Given the description of an element on the screen output the (x, y) to click on. 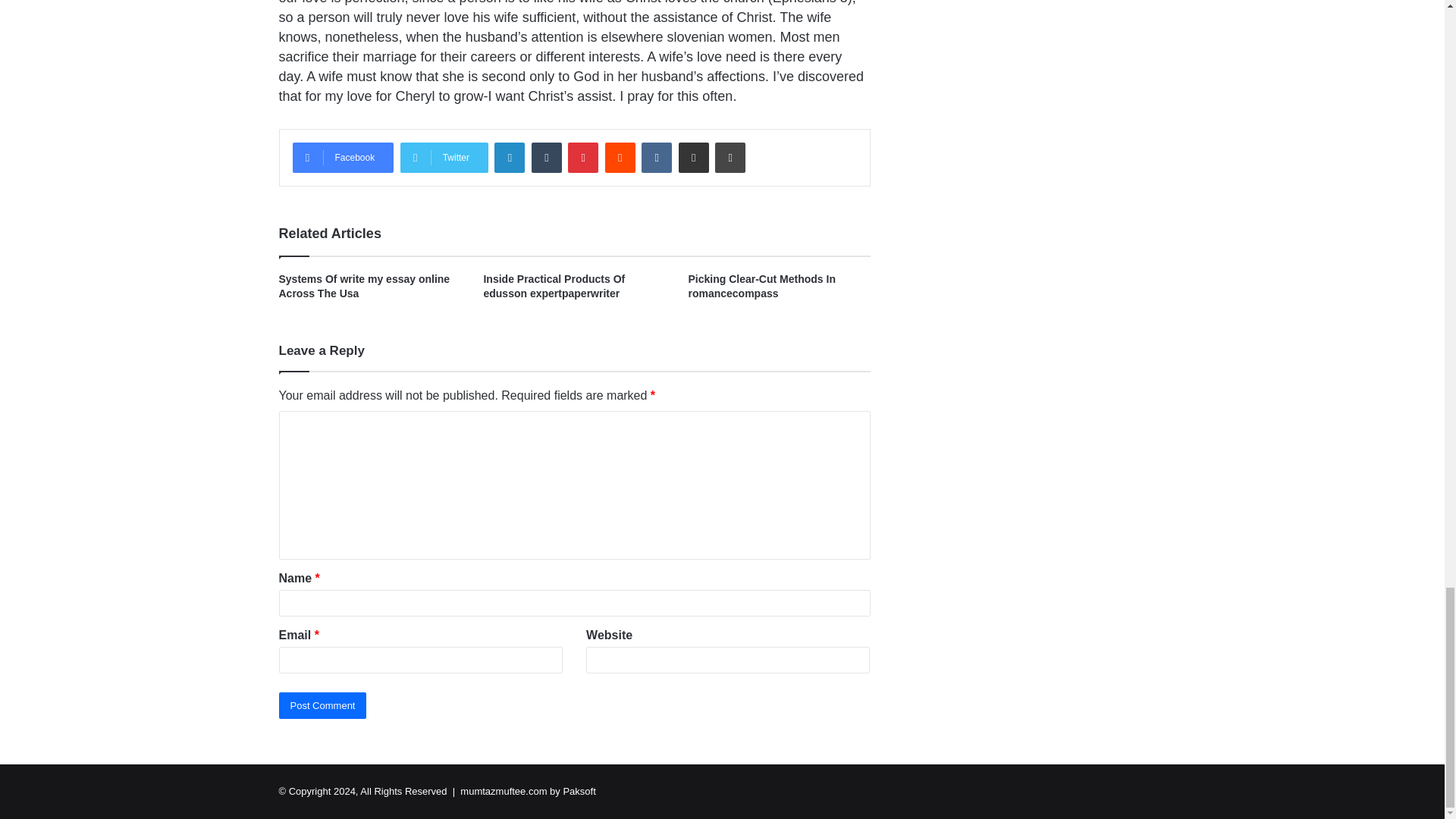
Facebook (343, 157)
Tumblr (546, 157)
LinkedIn (509, 157)
VKontakte (656, 157)
Share via Email (693, 157)
Pinterest (582, 157)
Post Comment (322, 705)
Twitter (443, 157)
Print (729, 157)
Reddit (619, 157)
